Given the description of an element on the screen output the (x, y) to click on. 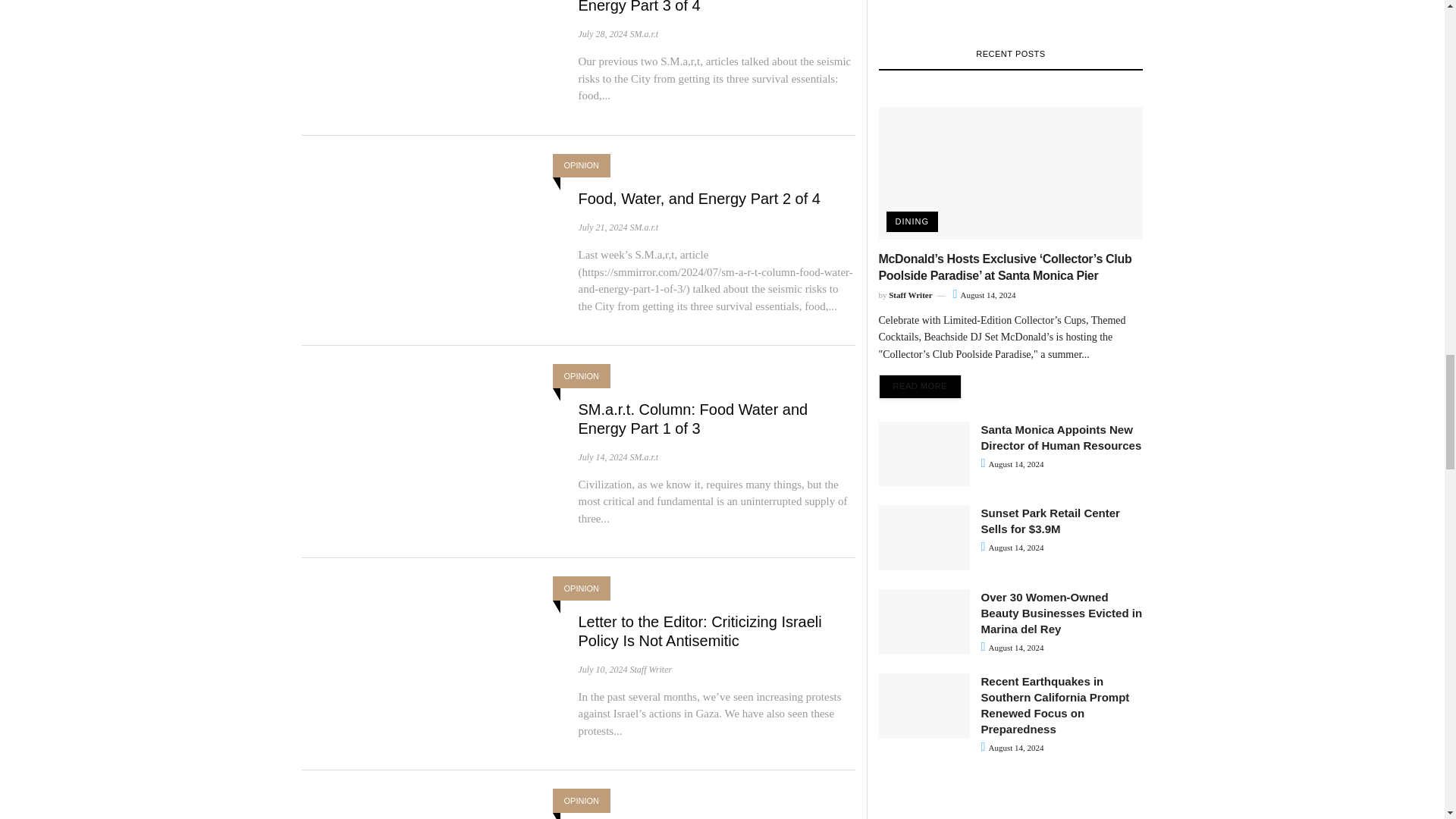
Posts by SM.a.r.t (643, 33)
SM.a.r.t Column: Food Water and Energy Part 3 of 4 (690, 6)
Posts by SM.a.r.t (643, 226)
Food, Water, and Energy Part 2 of 4 (698, 198)
